Given the description of an element on the screen output the (x, y) to click on. 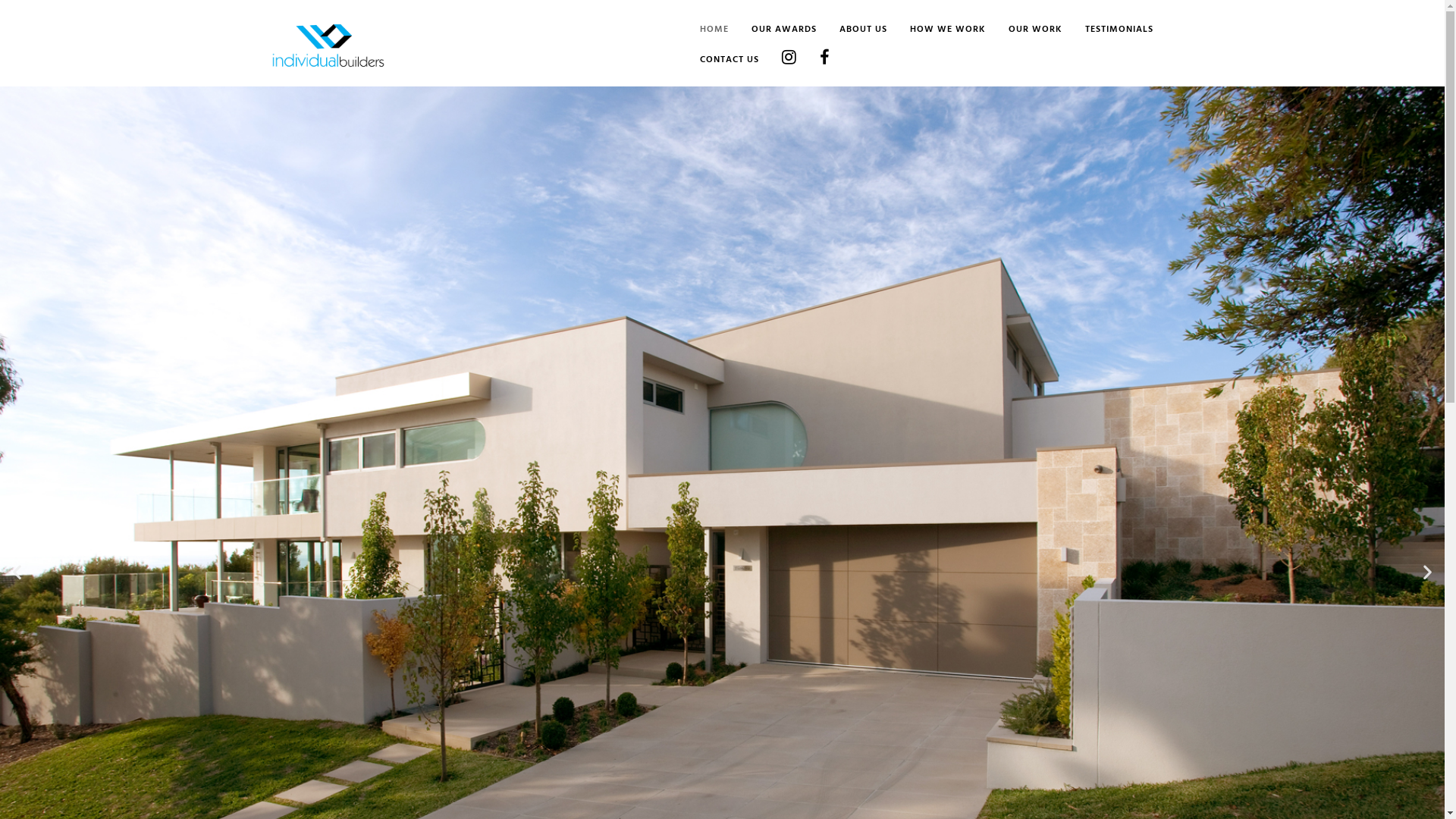
FACEBOOK Element type: text (812, 60)
TESTIMONIALS Element type: text (1106, 30)
CONTACT US Element type: text (717, 60)
HOW WE WORK Element type: text (936, 30)
OUR AWARDS Element type: text (771, 30)
INSTAGRAM Element type: text (777, 60)
HOME Element type: text (702, 30)
OUR WORK Element type: text (1023, 30)
ABOUT US Element type: text (850, 30)
